Given the description of an element on the screen output the (x, y) to click on. 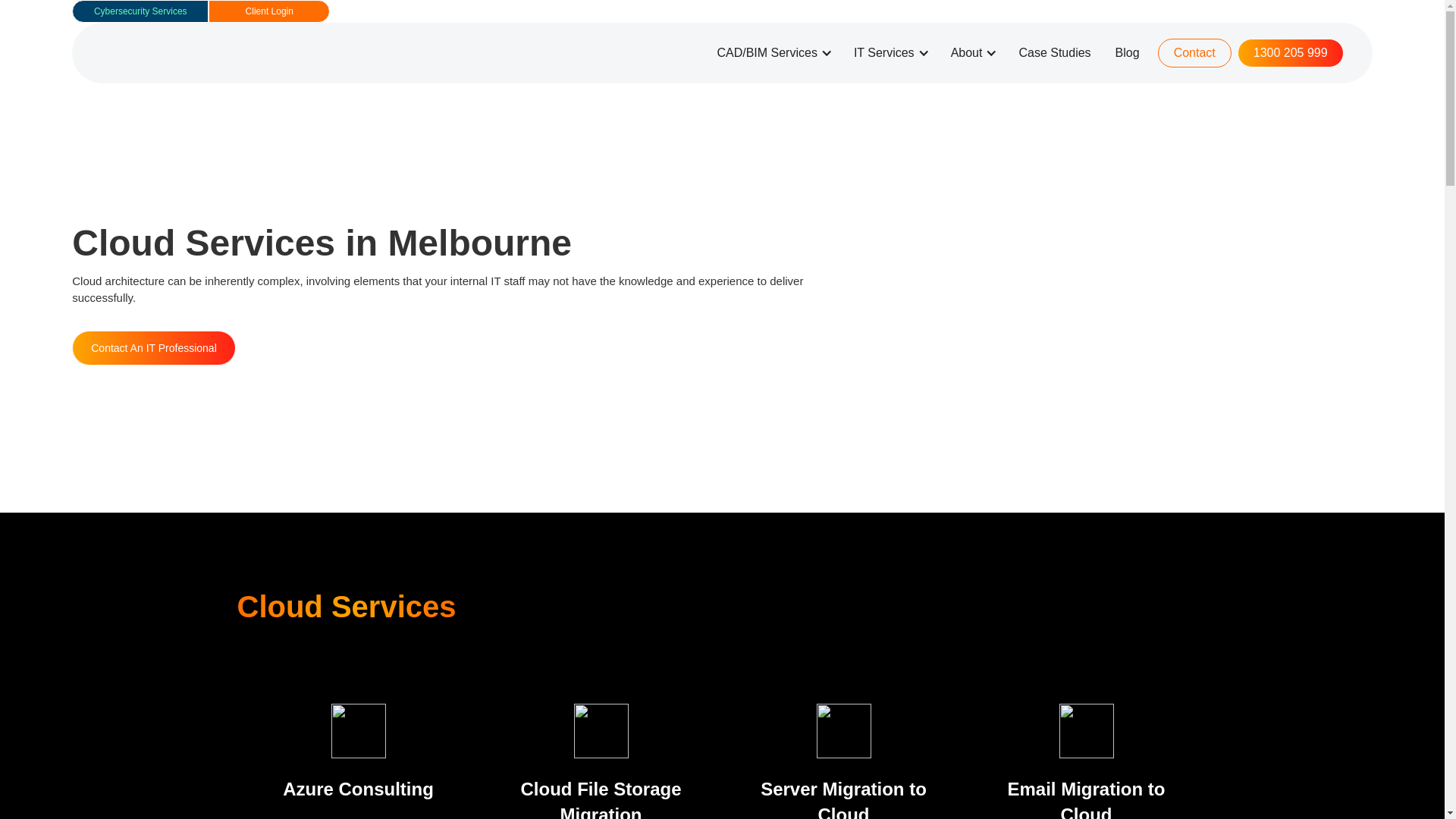
Contact An IT Professional Element type: text (153, 347)
Blog Element type: text (1127, 52)
Cybersecurity Services Element type: text (140, 11)
1300 205 999 Element type: text (1290, 52)
Client Login Element type: text (268, 11)
Case Studies Element type: text (1054, 52)
Contact Element type: text (1194, 52)
